Given the description of an element on the screen output the (x, y) to click on. 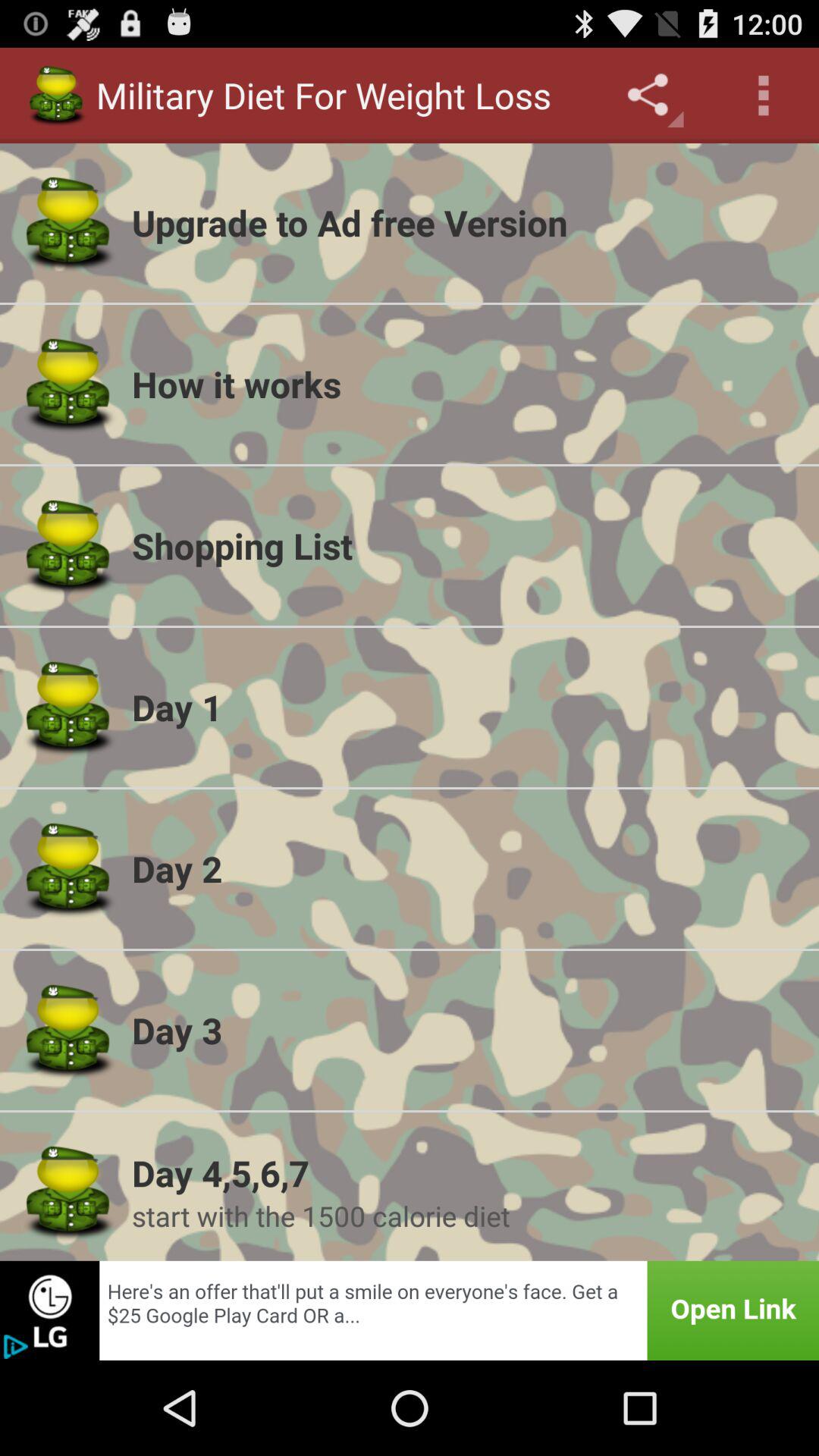
press the icon below upgrade to ad icon (465, 384)
